Given the description of an element on the screen output the (x, y) to click on. 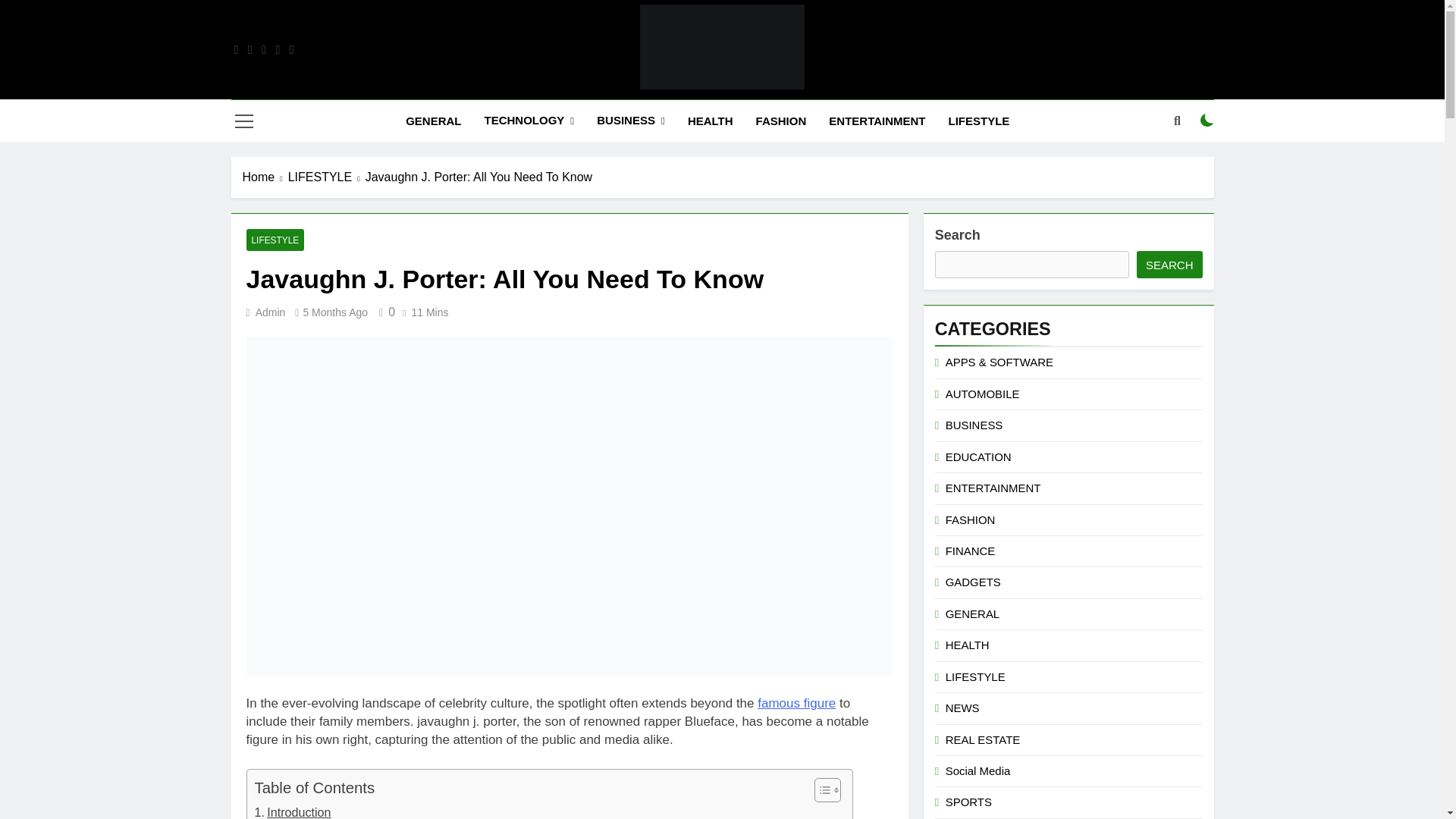
Introduction (292, 811)
GENERAL (432, 120)
on (1206, 120)
Home (265, 177)
FASHION (781, 120)
BUSINESS (631, 120)
Admin (270, 312)
0 (384, 311)
Actorwish (555, 111)
TECHNOLOGY (528, 120)
Introduction (292, 811)
famous figure (796, 703)
LIFESTYLE (979, 120)
ENTERTAINMENT (876, 120)
HEALTH (710, 120)
